Given the description of an element on the screen output the (x, y) to click on. 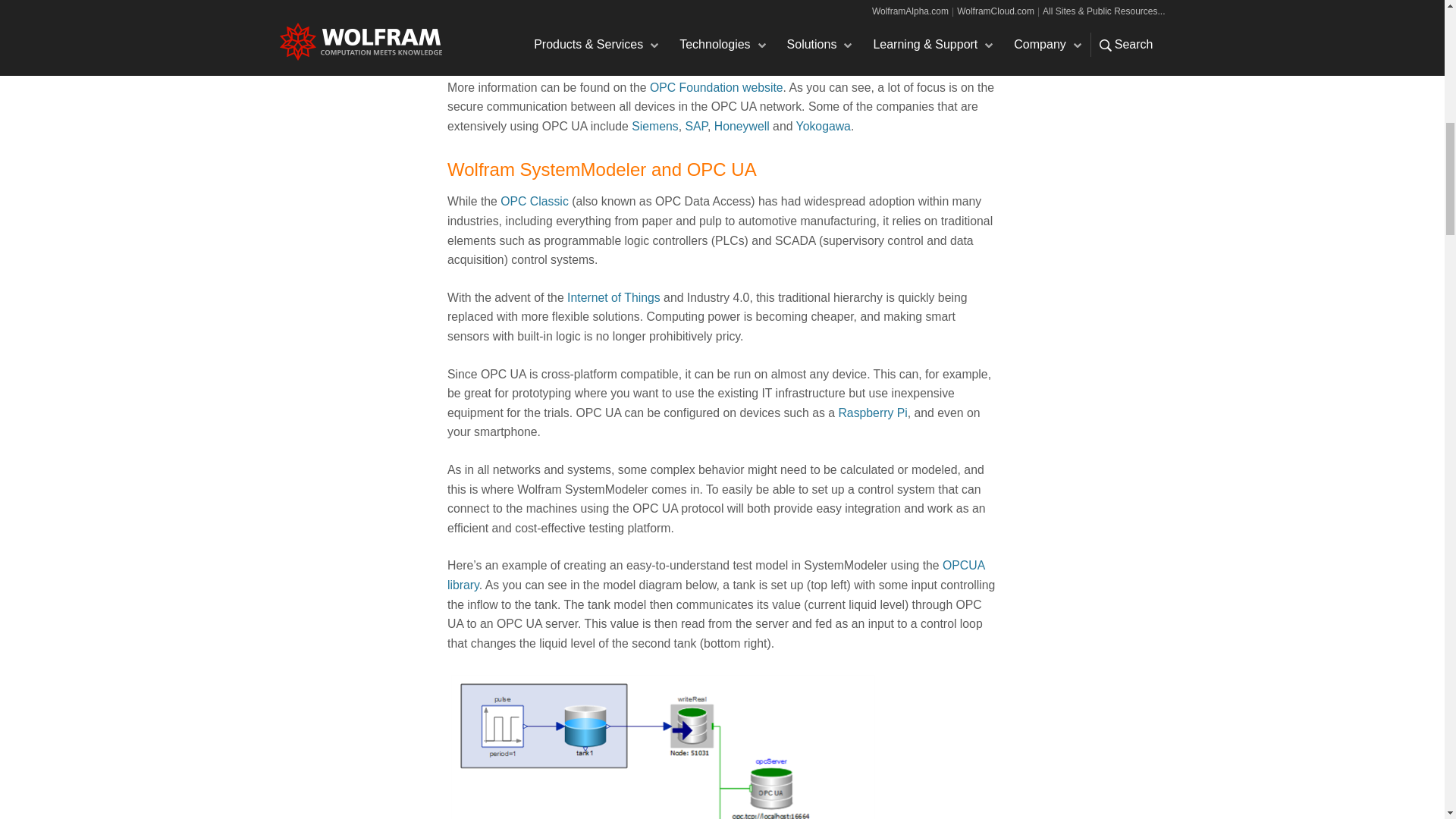
SystemModeler OPCUA tank model (662, 744)
